Given the description of an element on the screen output the (x, y) to click on. 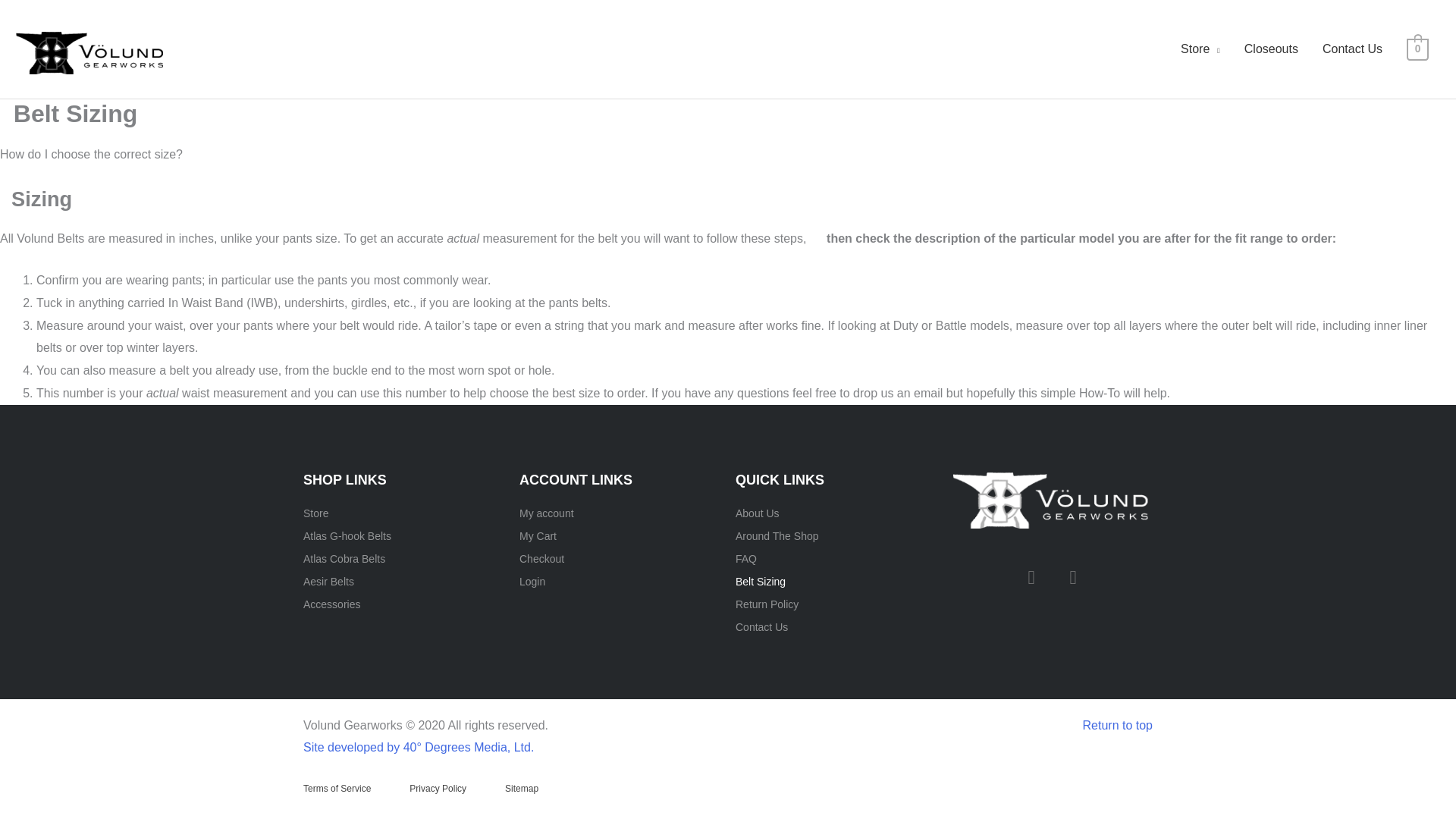
Closeouts (1270, 49)
My Cart (619, 535)
0 (1417, 48)
Atlas Cobra Belts (402, 558)
Login (619, 581)
Checkout (619, 558)
Return Policy (835, 603)
Contact Us (835, 626)
Atlas G-hook Belts (402, 535)
Around The Shop (835, 535)
FAQ (835, 558)
Aesir Belts (402, 581)
Accessories (402, 603)
Store (1200, 49)
My account (619, 513)
